Given the description of an element on the screen output the (x, y) to click on. 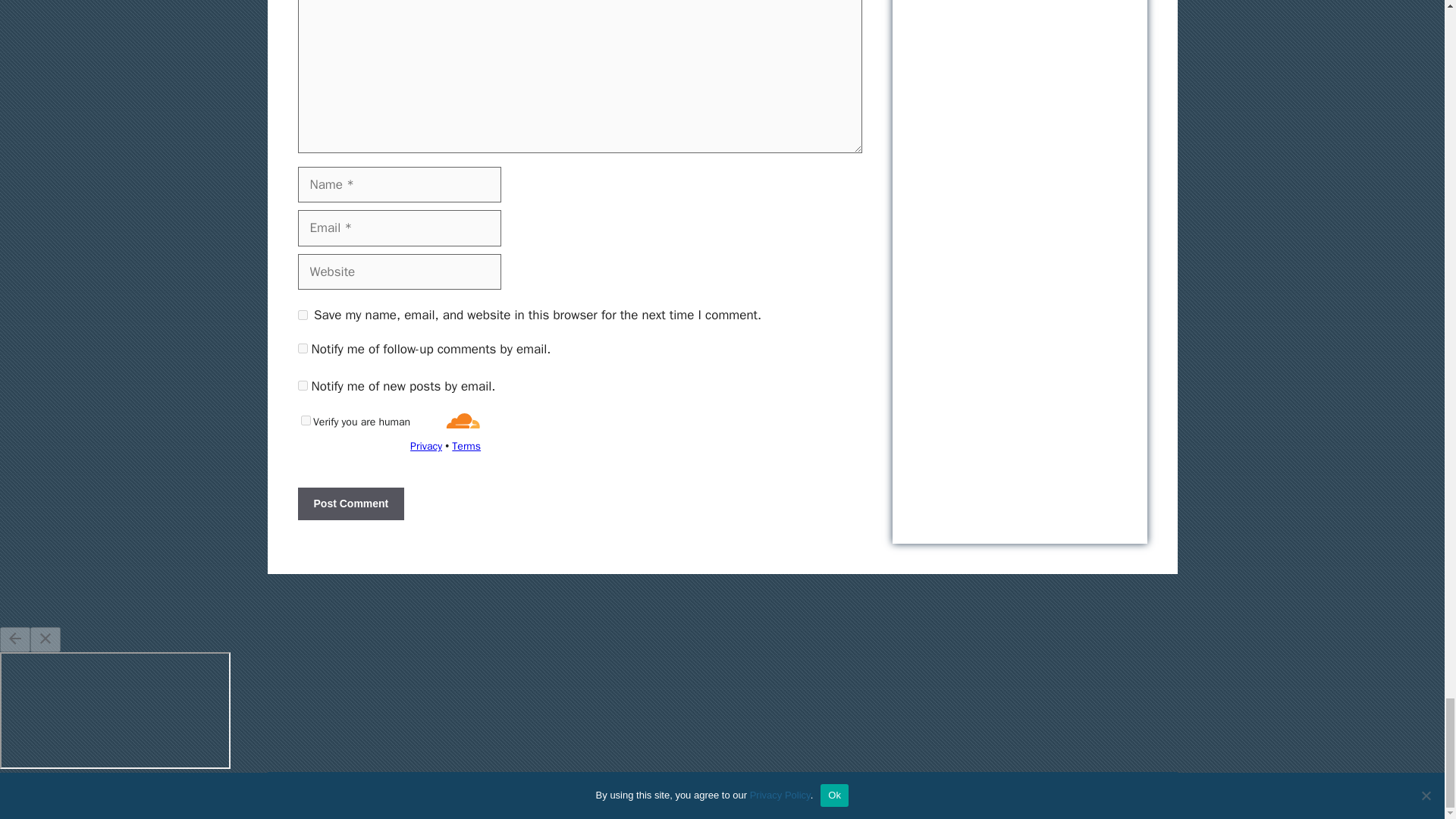
subscribe (302, 347)
Post Comment (350, 503)
yes (302, 315)
subscribe (302, 385)
